Given the description of an element on the screen output the (x, y) to click on. 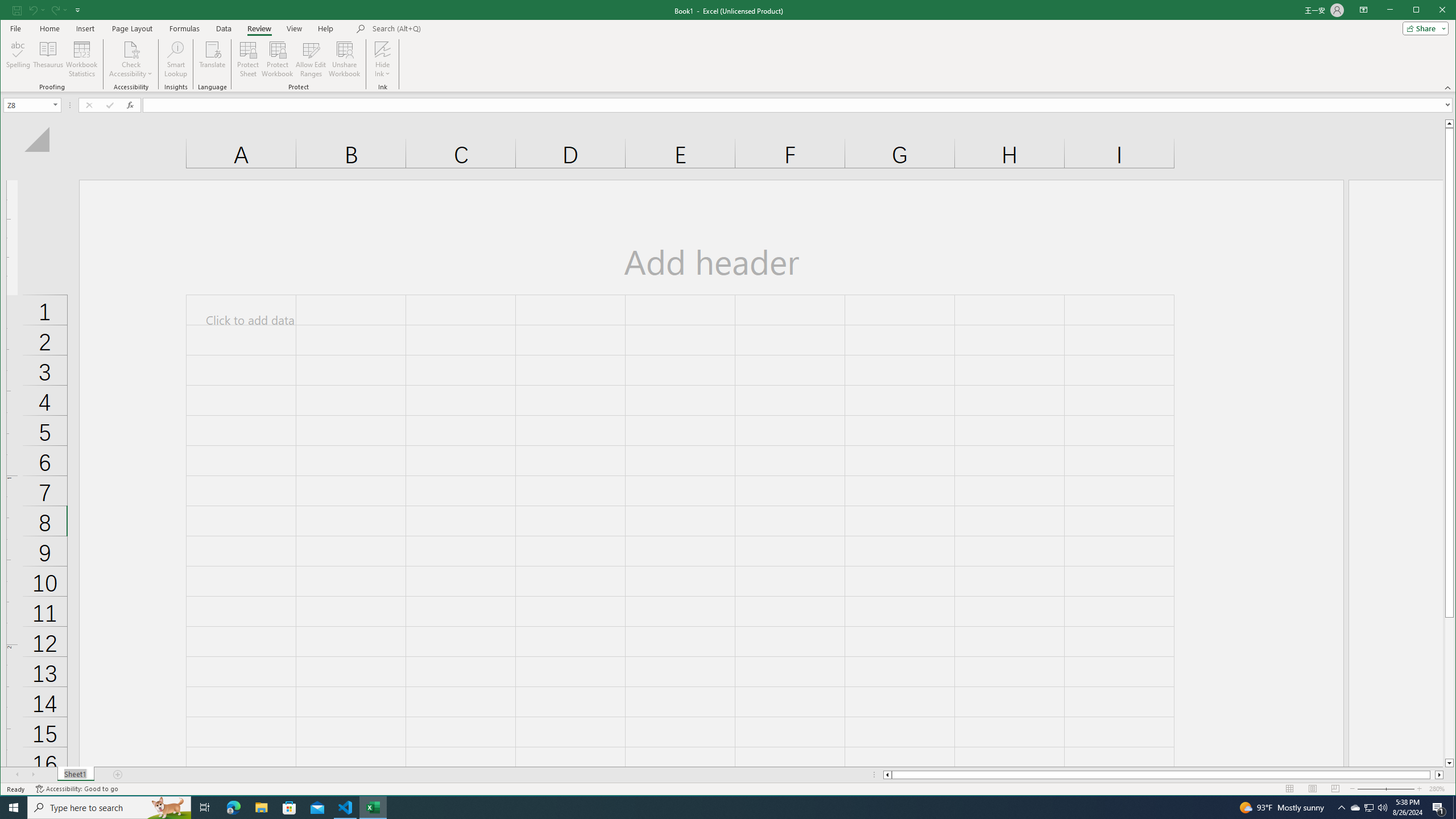
Microsoft Edge (233, 807)
Thesaurus... (1368, 807)
Allow Edit Ranges (48, 59)
User Promoted Notification Area (310, 59)
